Given the description of an element on the screen output the (x, y) to click on. 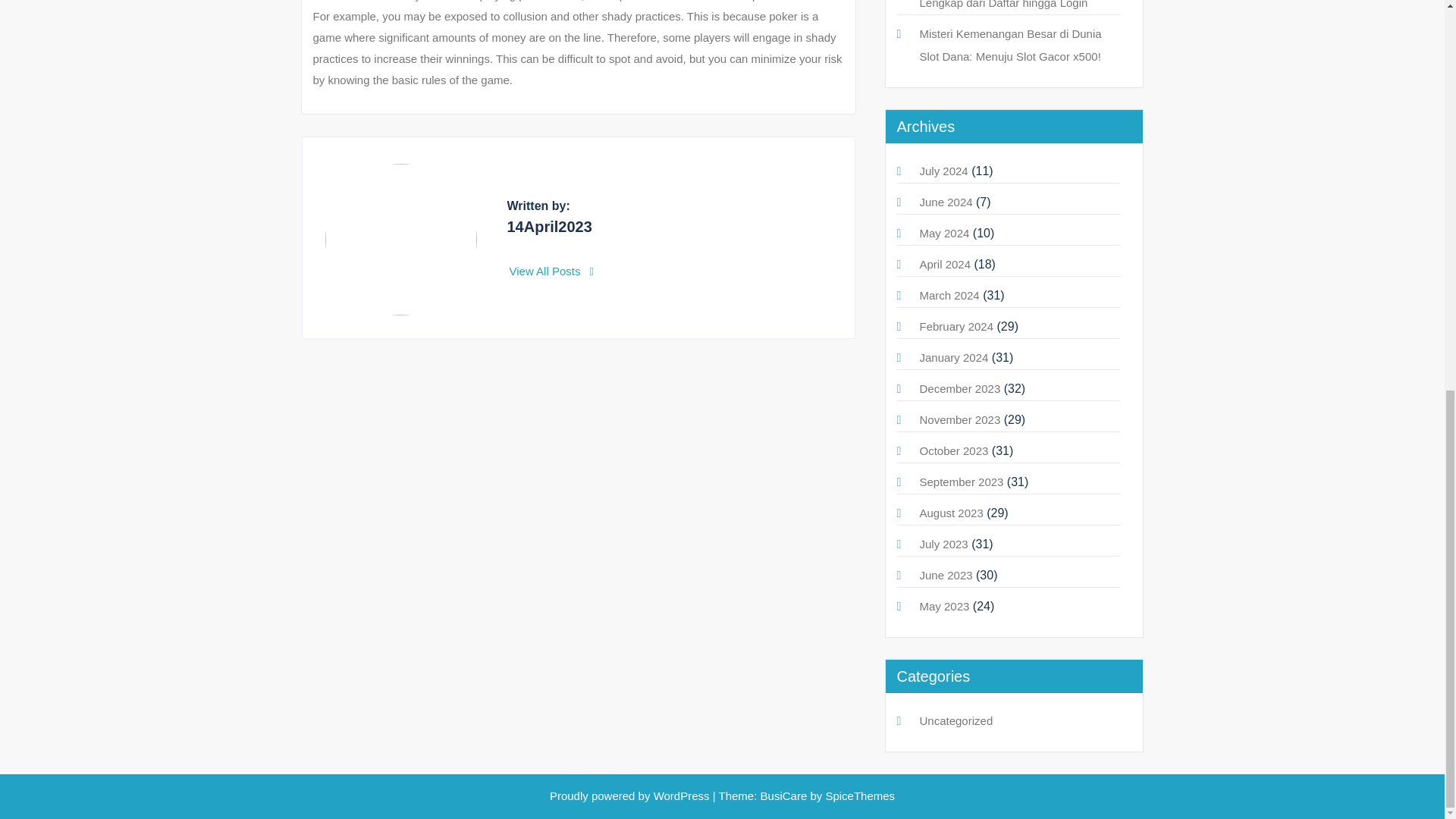
September 2023 (960, 481)
View All Posts (551, 270)
June 2023 (945, 574)
Uncategorized (955, 720)
January 2024 (953, 357)
July 2023 (943, 543)
March 2024 (948, 295)
May 2023 (943, 605)
May 2024 (943, 232)
July 2024 (943, 170)
February 2024 (955, 326)
SpiceThemes (858, 795)
BusiCare (785, 795)
